Given the description of an element on the screen output the (x, y) to click on. 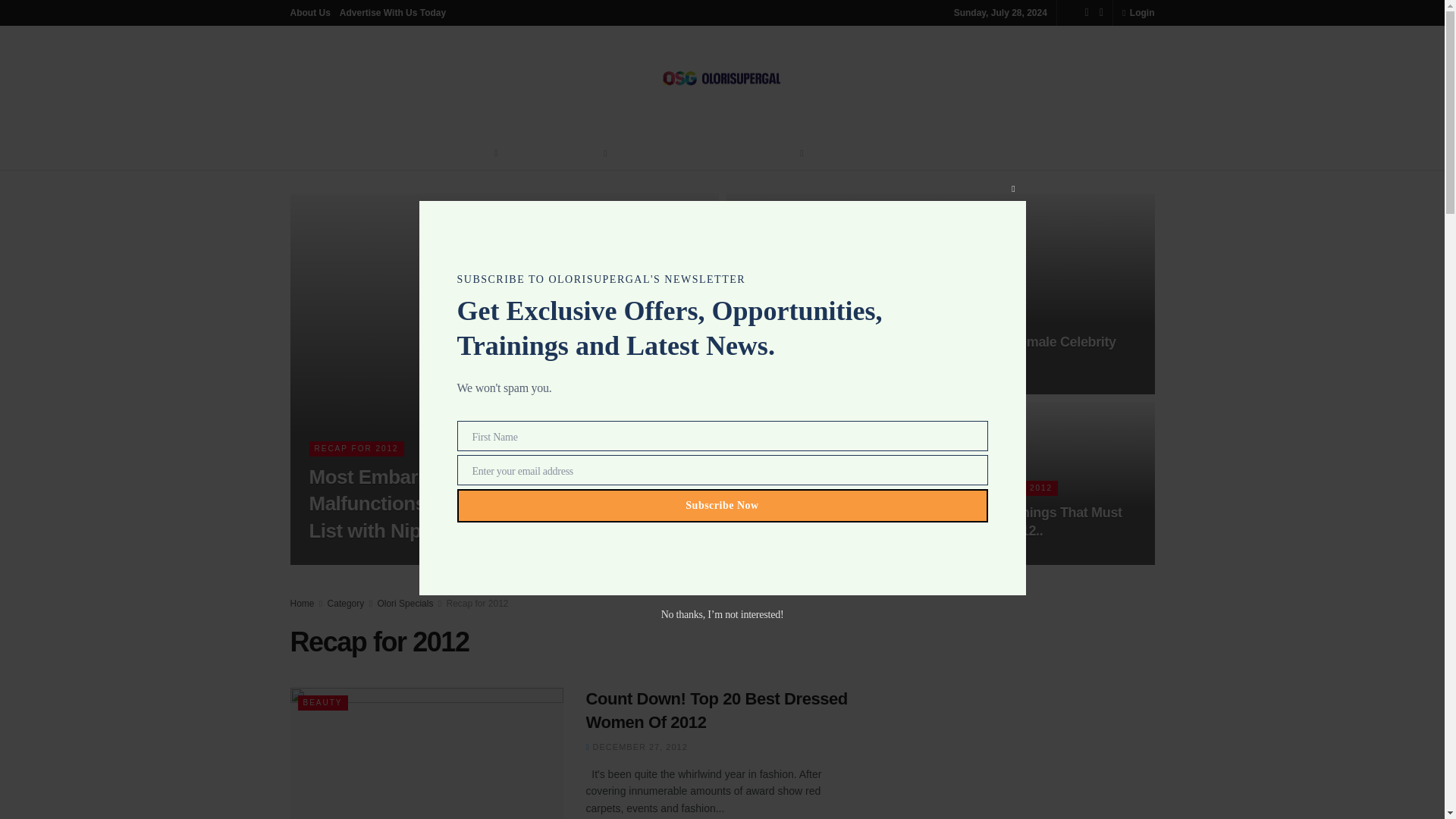
NEWS (478, 152)
Login (1138, 12)
LIFESTYLE (650, 152)
ENTERTAINMENT (558, 152)
Advertise With Us Today (392, 12)
OSG ZA (952, 152)
About Us (309, 12)
EVENTS (896, 152)
TRAVEL (838, 152)
Advertisement (1023, 707)
